Given the description of an element on the screen output the (x, y) to click on. 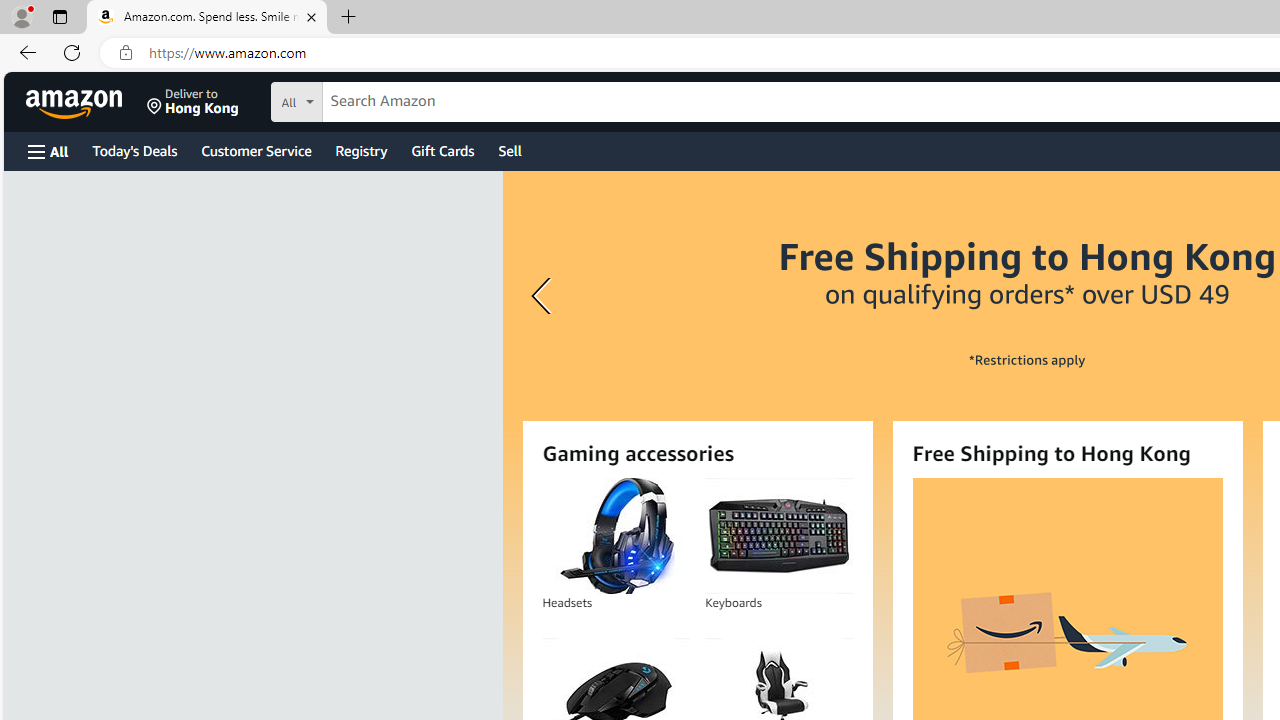
Deliver to Hong Kong (193, 101)
Headsets (616, 536)
Amazon.com. Spend less. Smile more. (207, 17)
Open Menu (48, 151)
Gift Cards (442, 150)
Headsets (615, 536)
Previous slide (544, 296)
Search in (371, 99)
Today's Deals (134, 150)
Sell (509, 150)
Registry (360, 150)
